Given the description of an element on the screen output the (x, y) to click on. 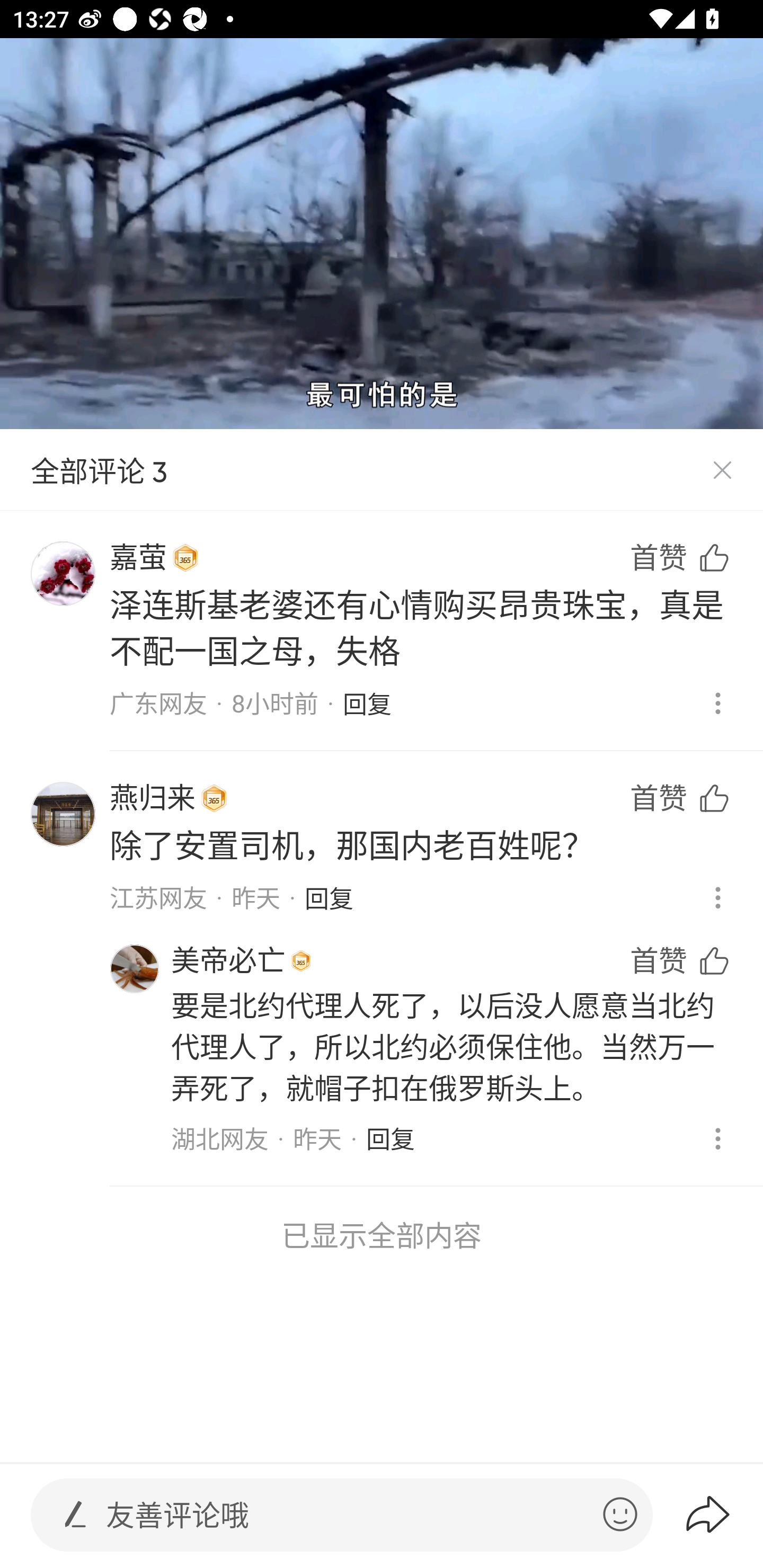
全部评论 3 关闭 (381, 470)
关闭 (722, 470)
UserRightLabel_OneMedalView 勋章 (184, 558)
UserRightLabel_OneMedalView 勋章 (213, 798)
UserRightLabel_OneMedalView 勋章 (300, 961)
已显示全部内容 (381, 1235)
友善评论哦 发表评论 (346, 1515)
 分享 (723, 1514)
 (75, 1514)
 (619, 1514)
